Given the description of an element on the screen output the (x, y) to click on. 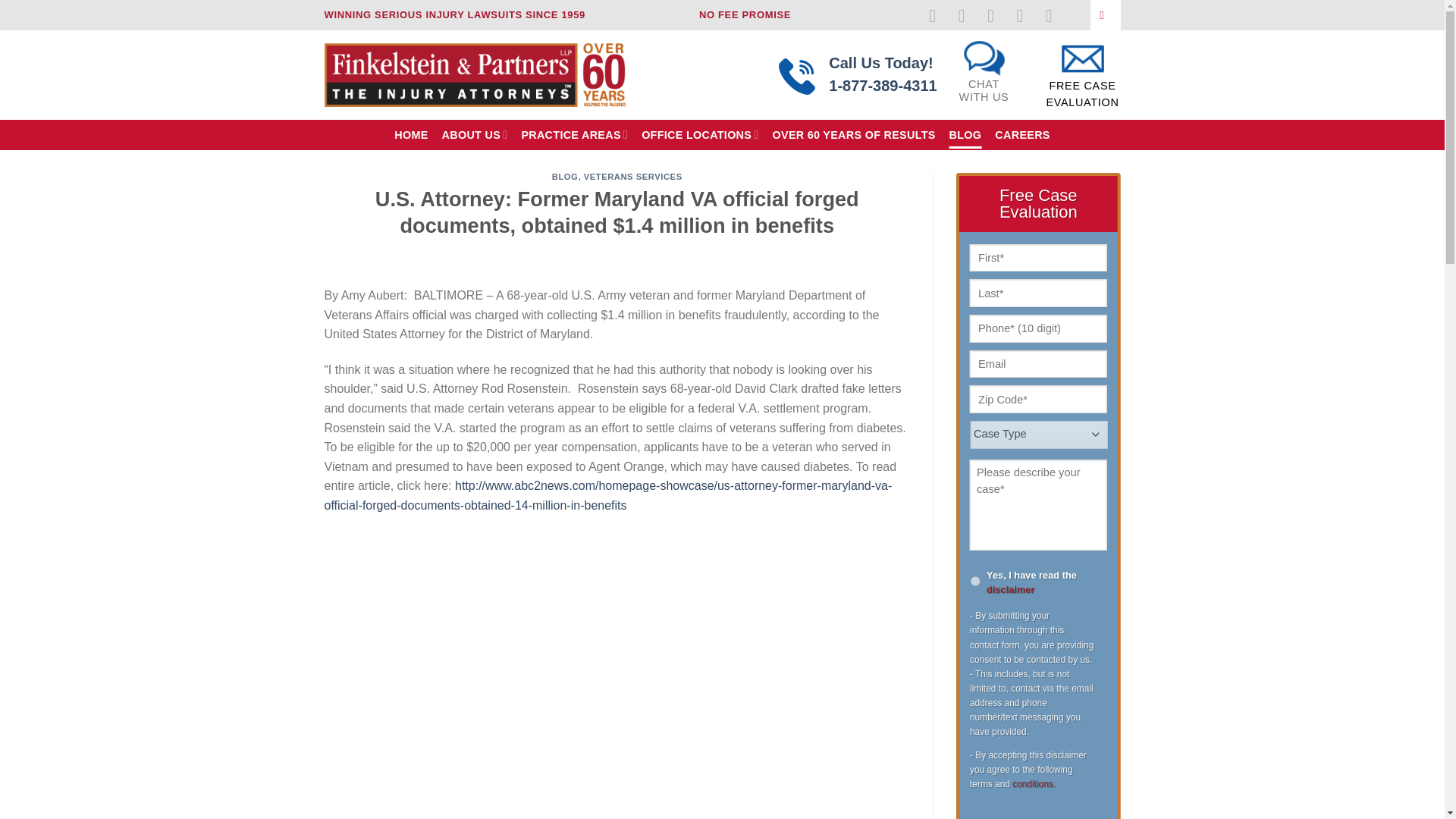
PRACTICE AREAS (574, 134)
Follow on Twitter (996, 14)
EVALUATION (1081, 102)
Send us an email (1025, 14)
ABOUT US (475, 134)
HOME (411, 134)
Free Evaluation (1081, 82)
FREE CASE (1081, 85)
Chat Now (882, 74)
Follow on Instagram (983, 82)
NO FEE PROMISE (967, 14)
Call Today! (744, 14)
